Given the description of an element on the screen output the (x, y) to click on. 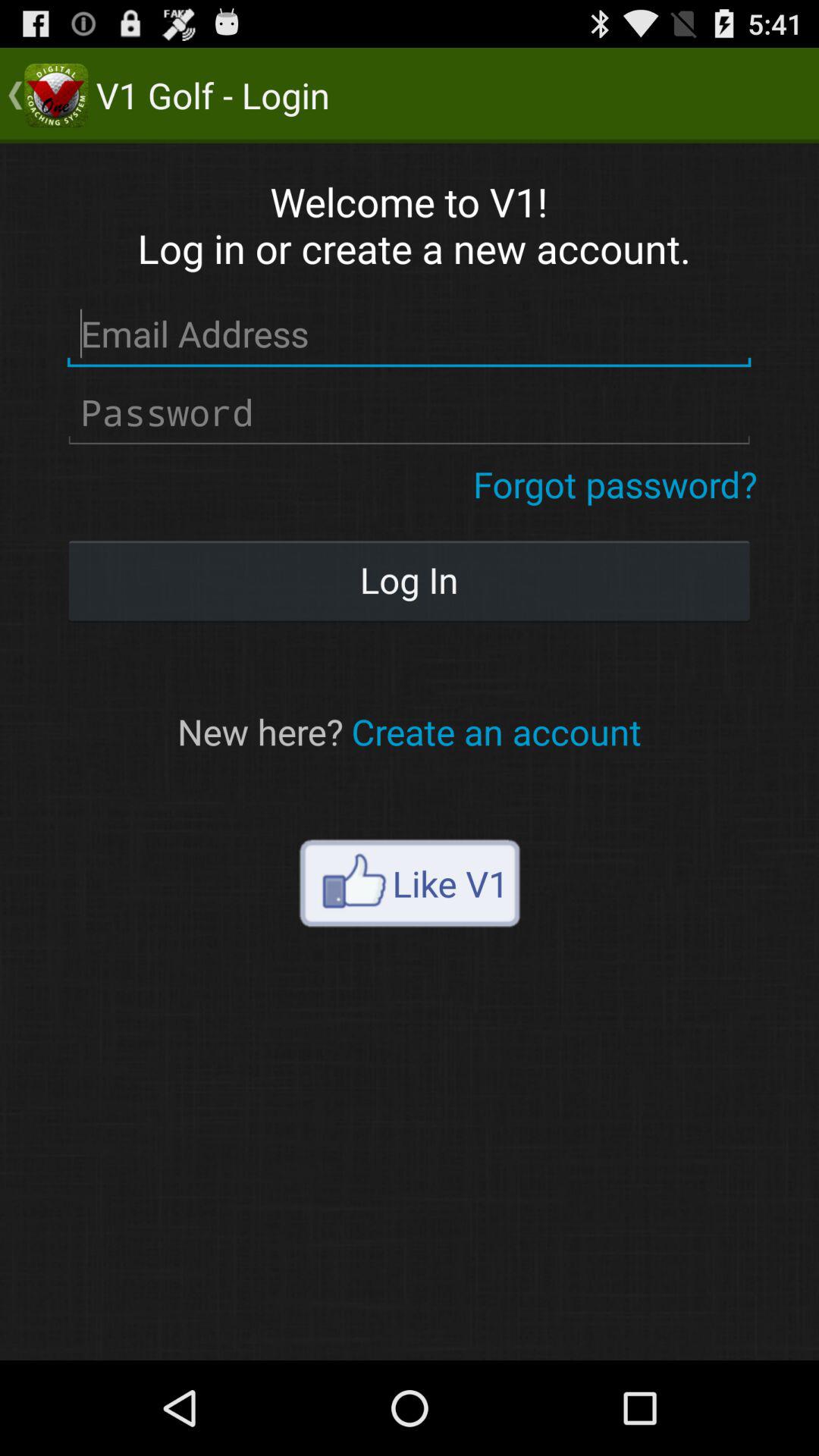
enter email address (408, 334)
